Given the description of an element on the screen output the (x, y) to click on. 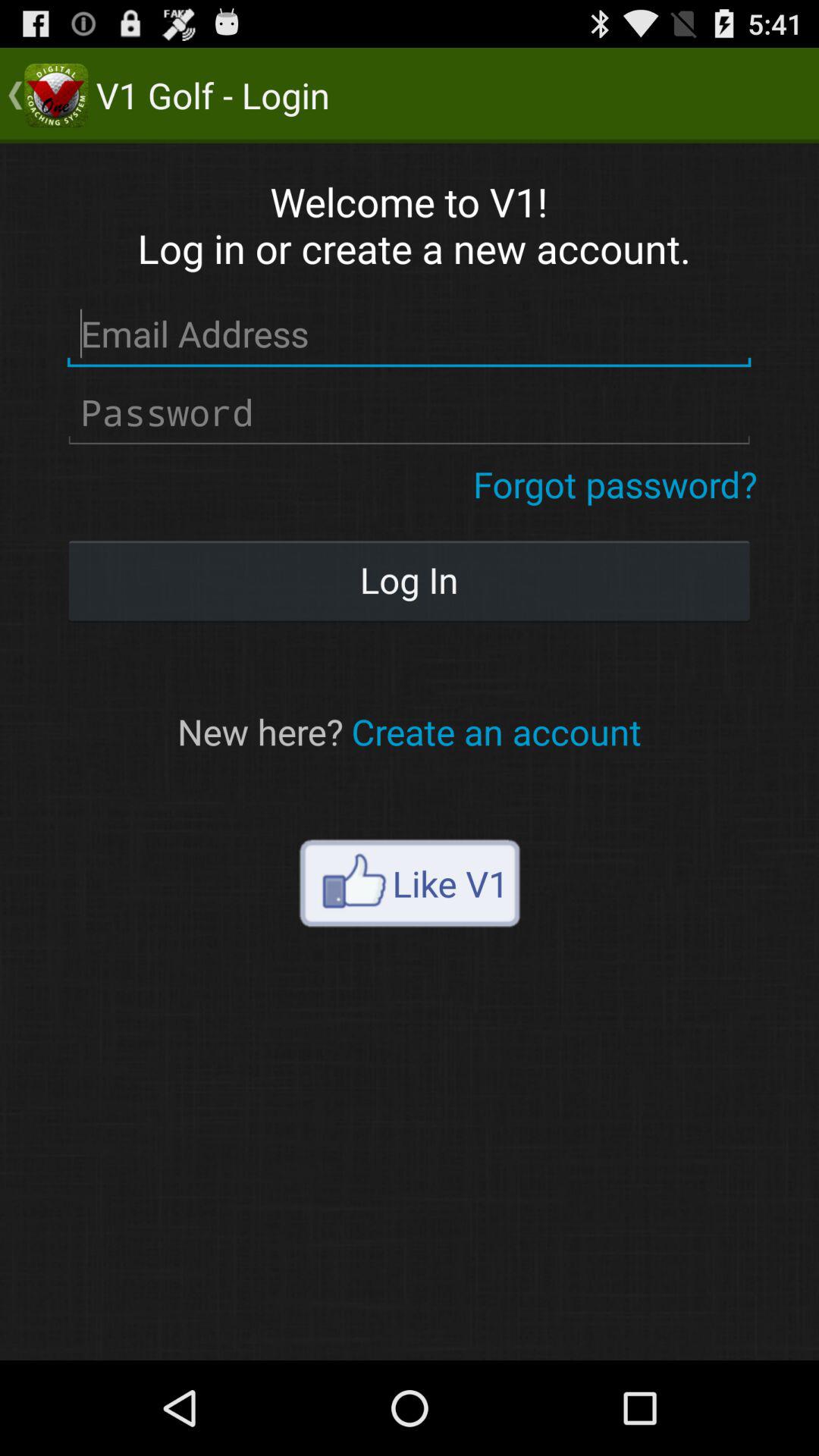
enter email address (408, 334)
